Given the description of an element on the screen output the (x, y) to click on. 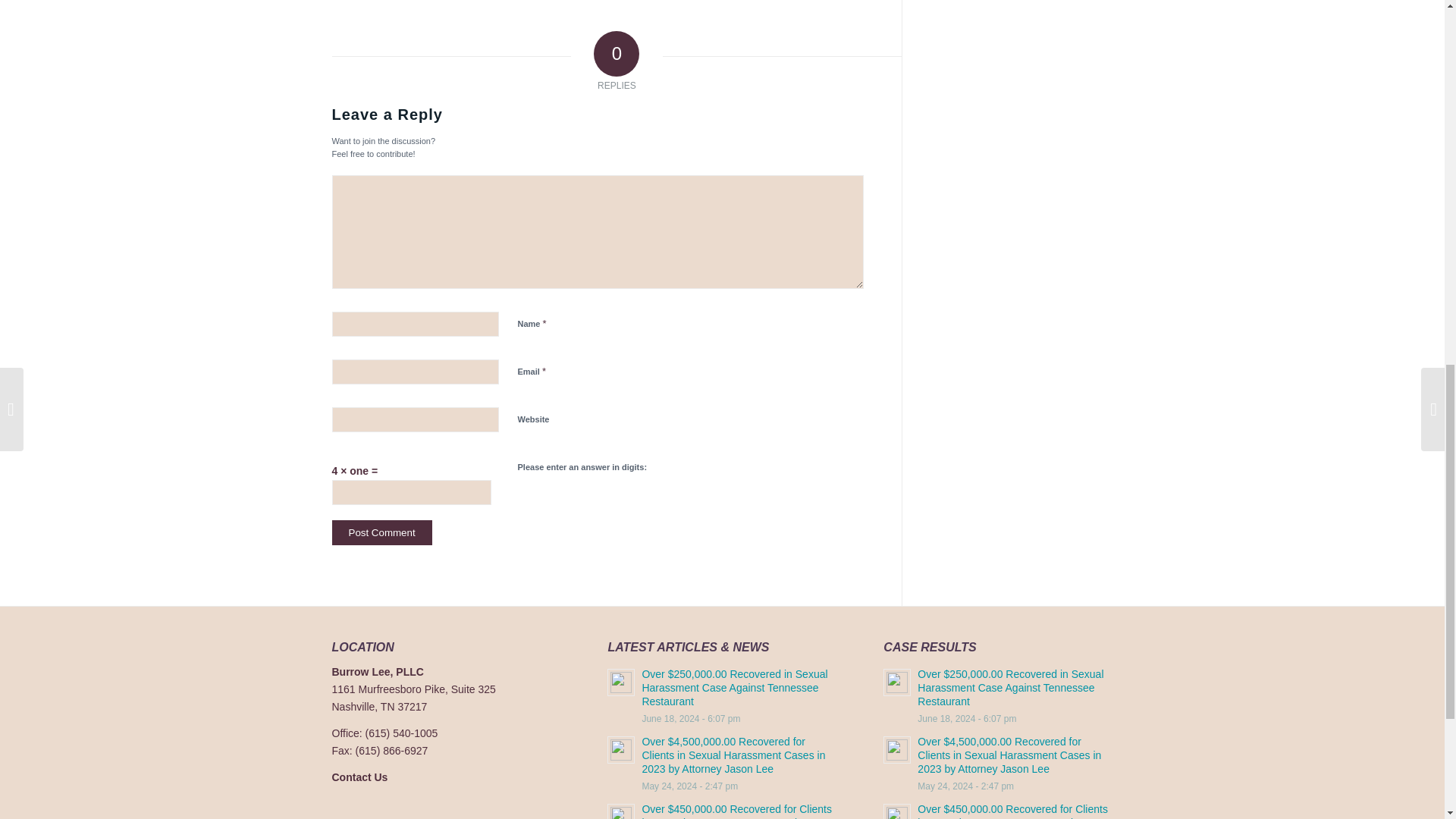
Post Comment (381, 532)
